Given the description of an element on the screen output the (x, y) to click on. 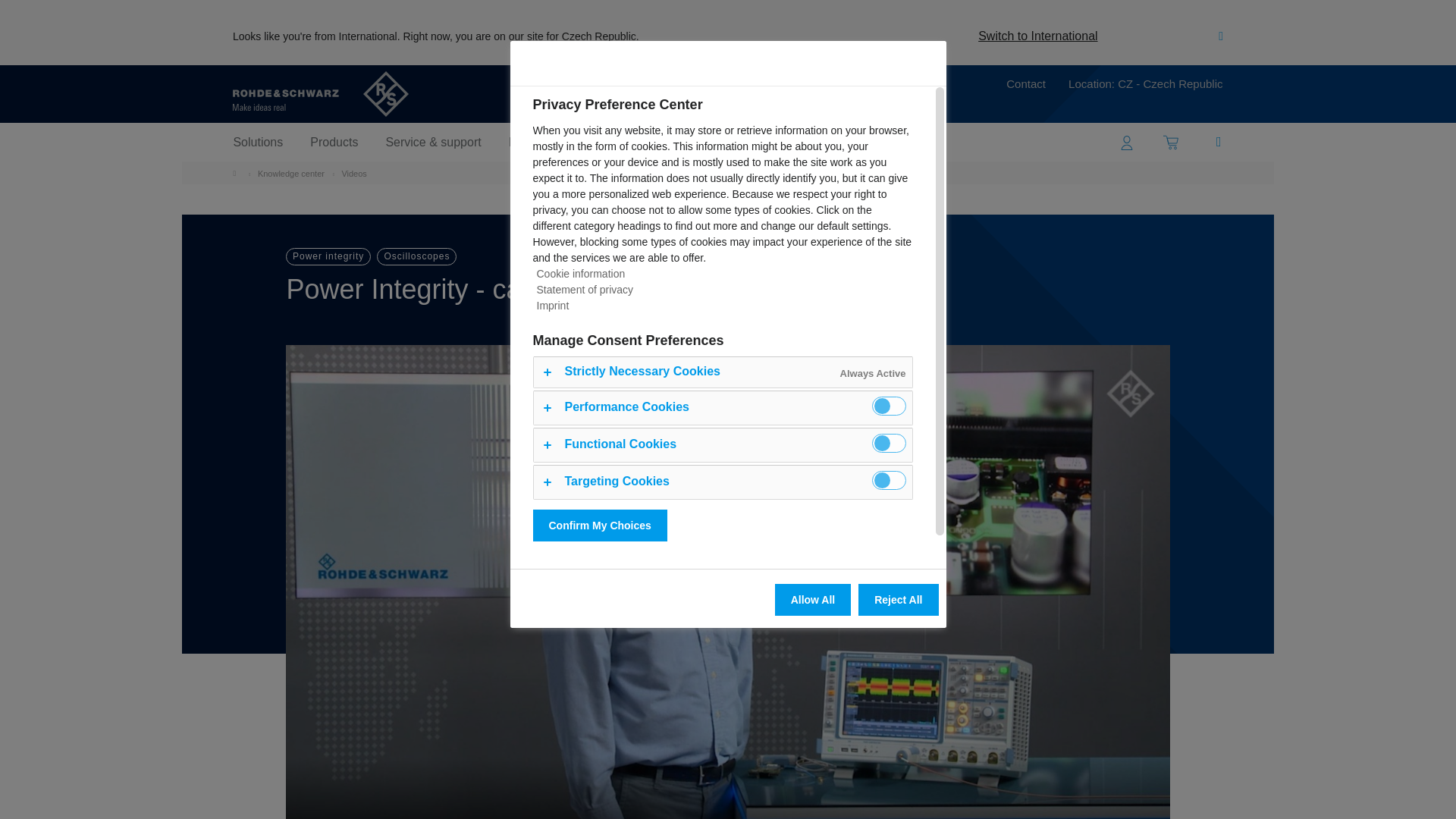
Knowledge center (290, 173)
Videos (353, 173)
Contact (1025, 85)
Switch to International (1037, 36)
Home (237, 172)
Customer portal (1126, 141)
Power integrity (328, 256)
Oscilloscopes (417, 256)
